Given the description of an element on the screen output the (x, y) to click on. 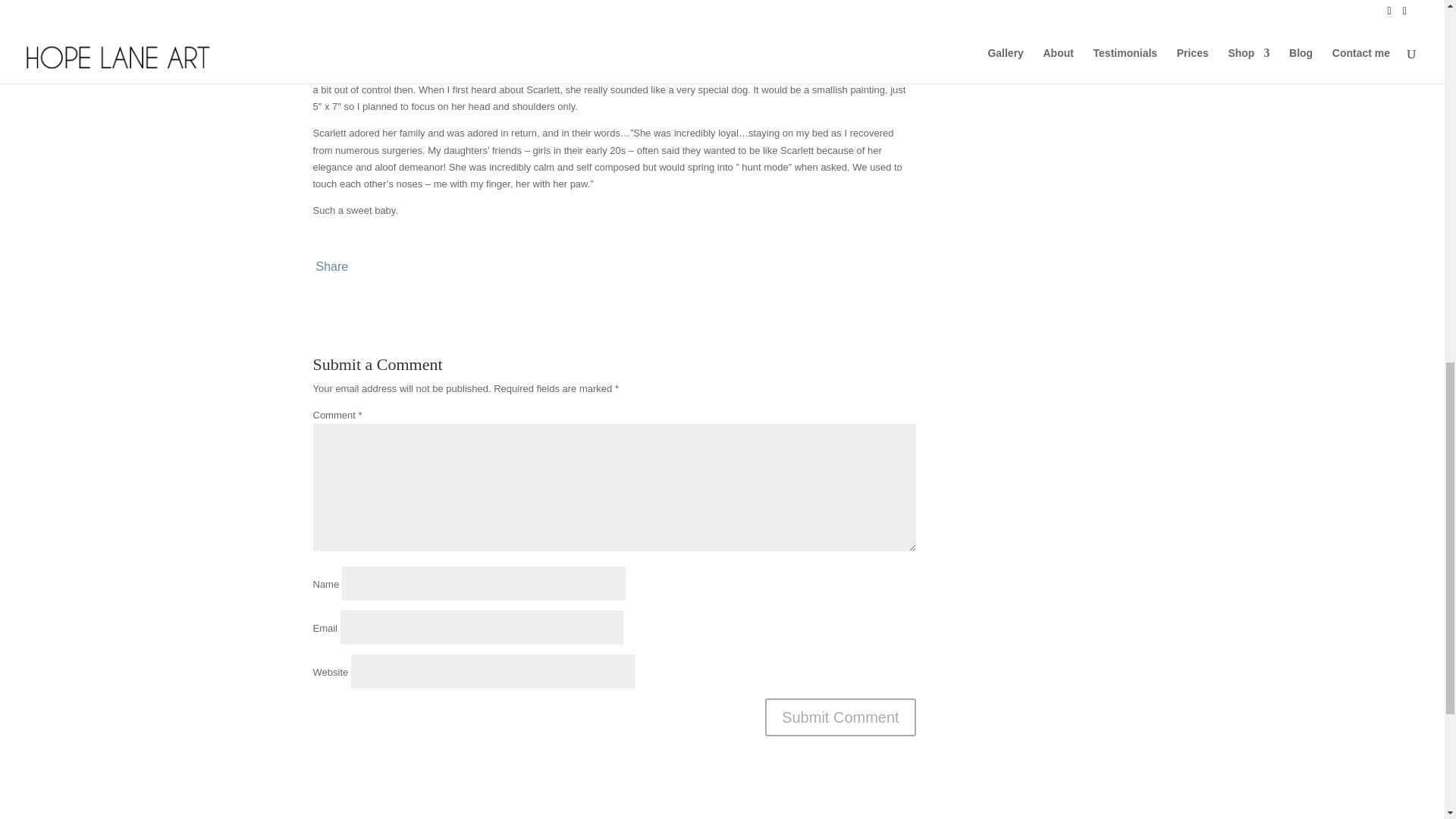
Submit Comment (840, 717)
Submit Comment (840, 717)
Share (331, 266)
